Given the description of an element on the screen output the (x, y) to click on. 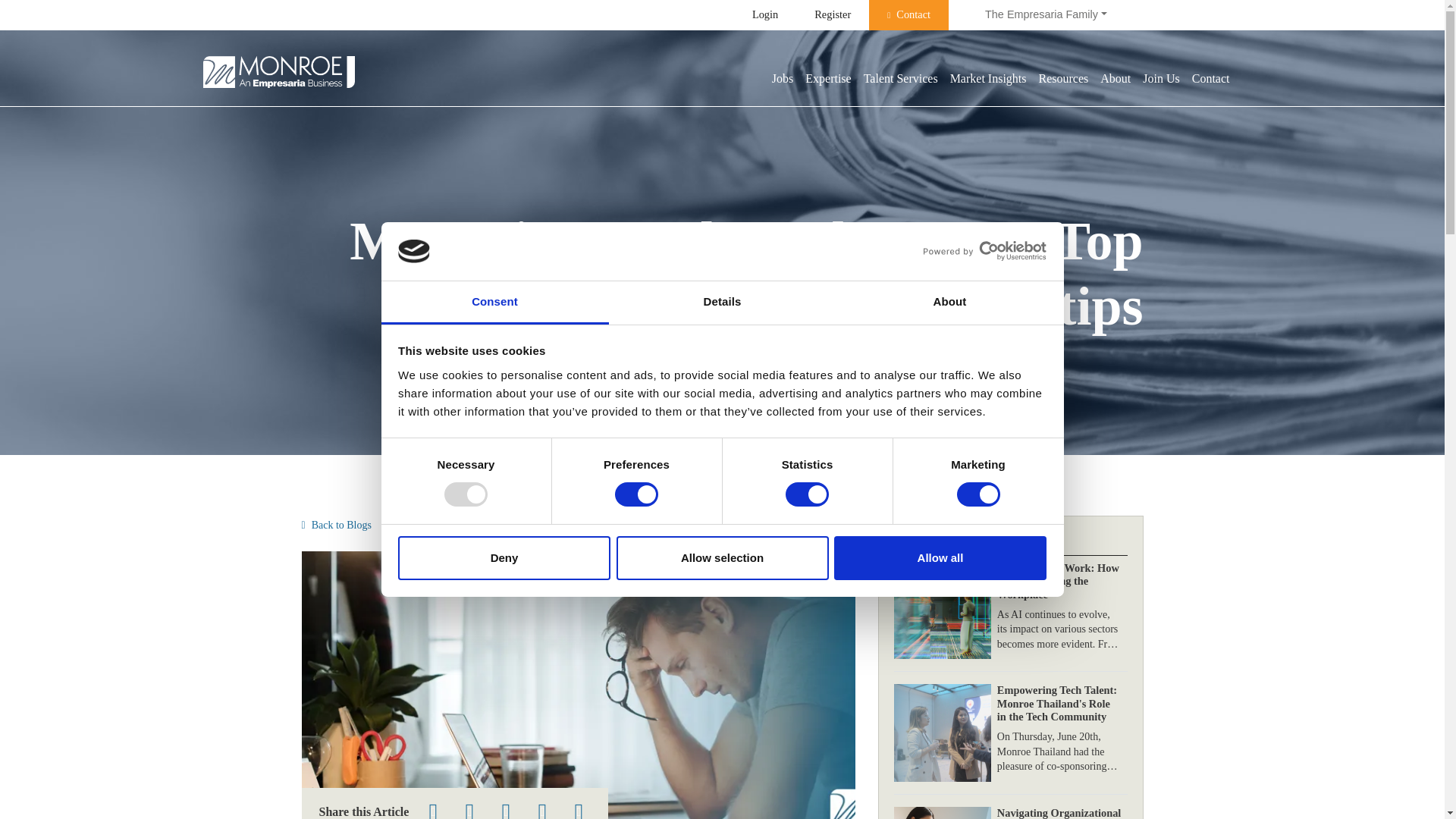
Consent (494, 302)
Deny (503, 557)
About (948, 302)
Allow all (940, 557)
Allow selection (721, 557)
Login (764, 15)
Details (721, 302)
